Given the description of an element on the screen output the (x, y) to click on. 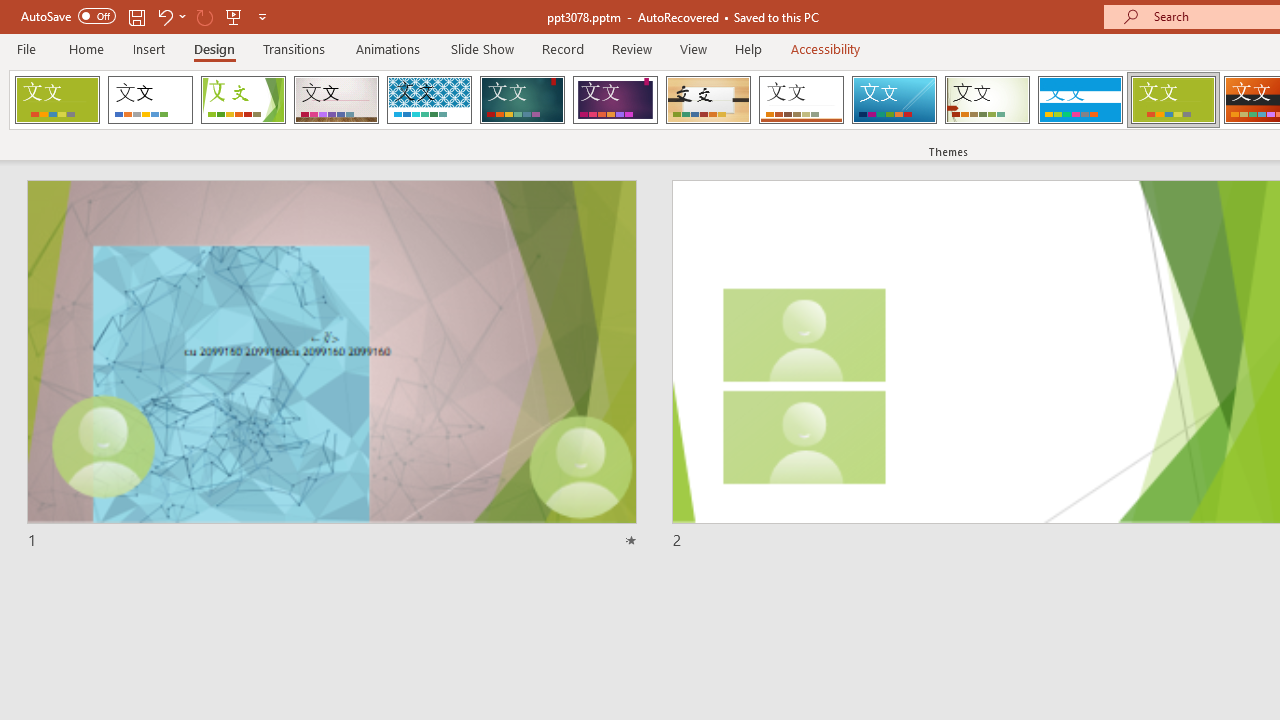
Gallery (336, 100)
Retrospect (801, 100)
Slice (893, 100)
Integral (429, 100)
Office Theme (150, 100)
Wisp (987, 100)
